Given the description of an element on the screen output the (x, y) to click on. 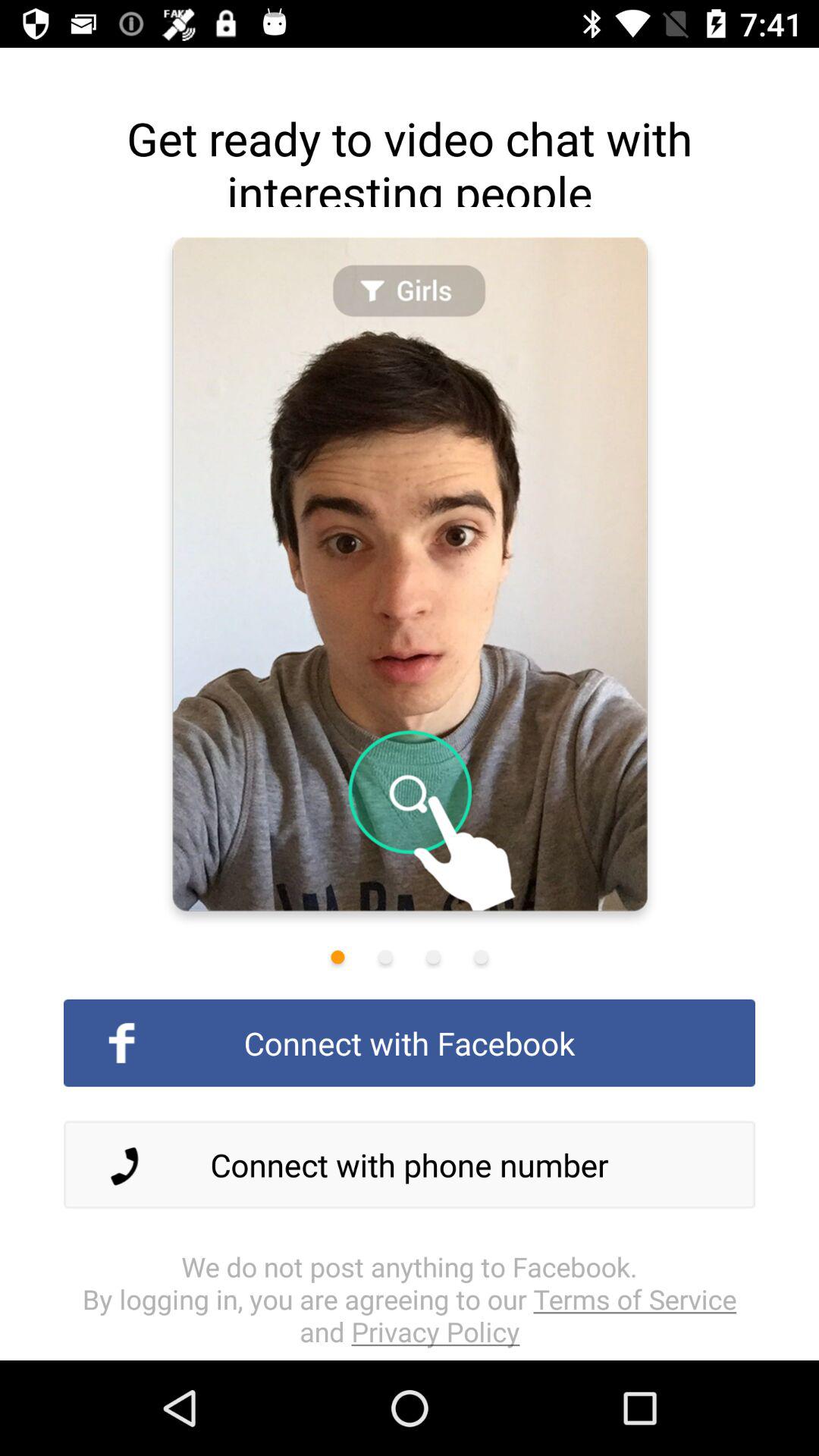
button to switch to another pereson (433, 957)
